Given the description of an element on the screen output the (x, y) to click on. 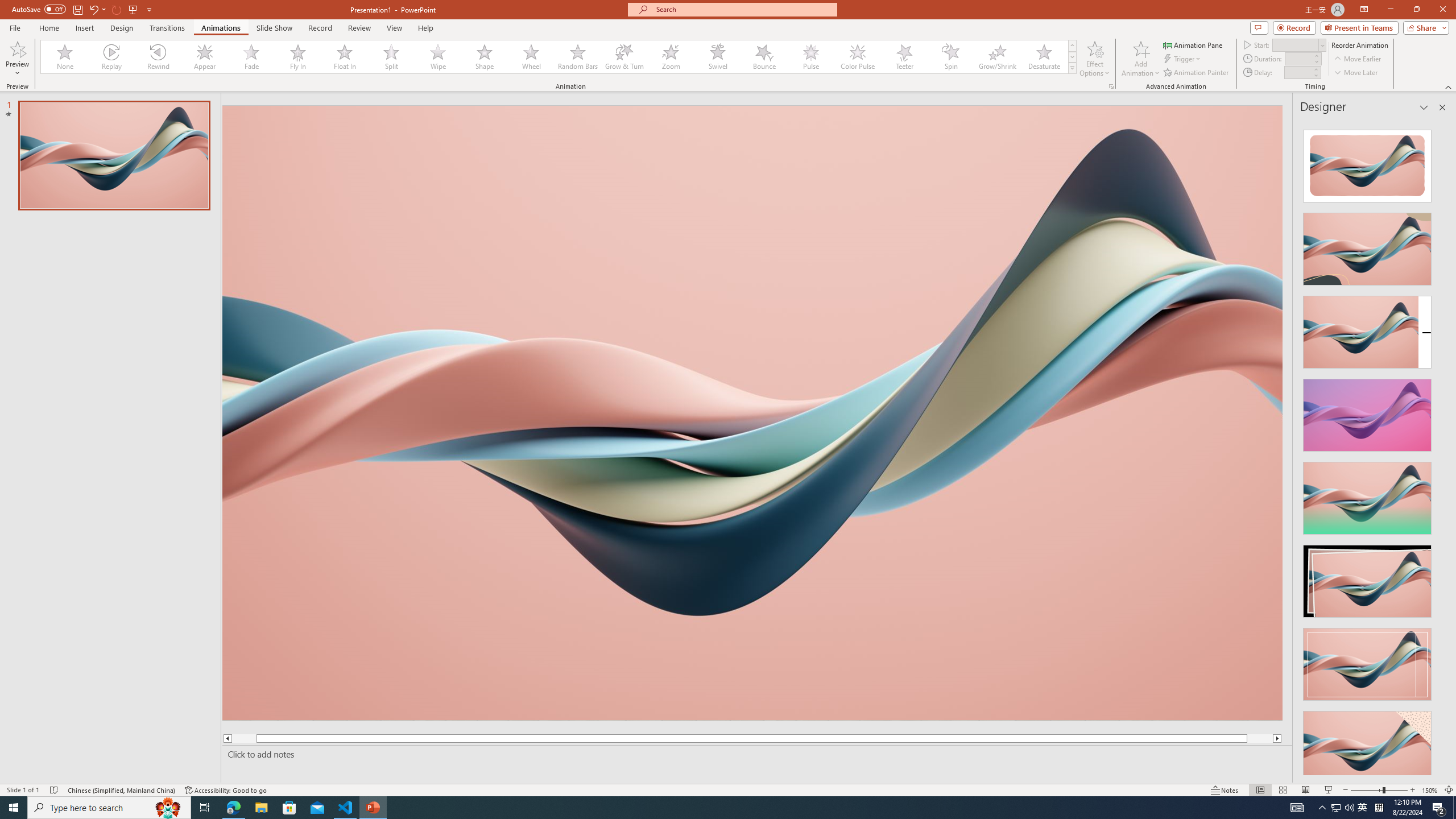
Trigger (1182, 58)
Animation Pane (1193, 44)
